Given the description of an element on the screen output the (x, y) to click on. 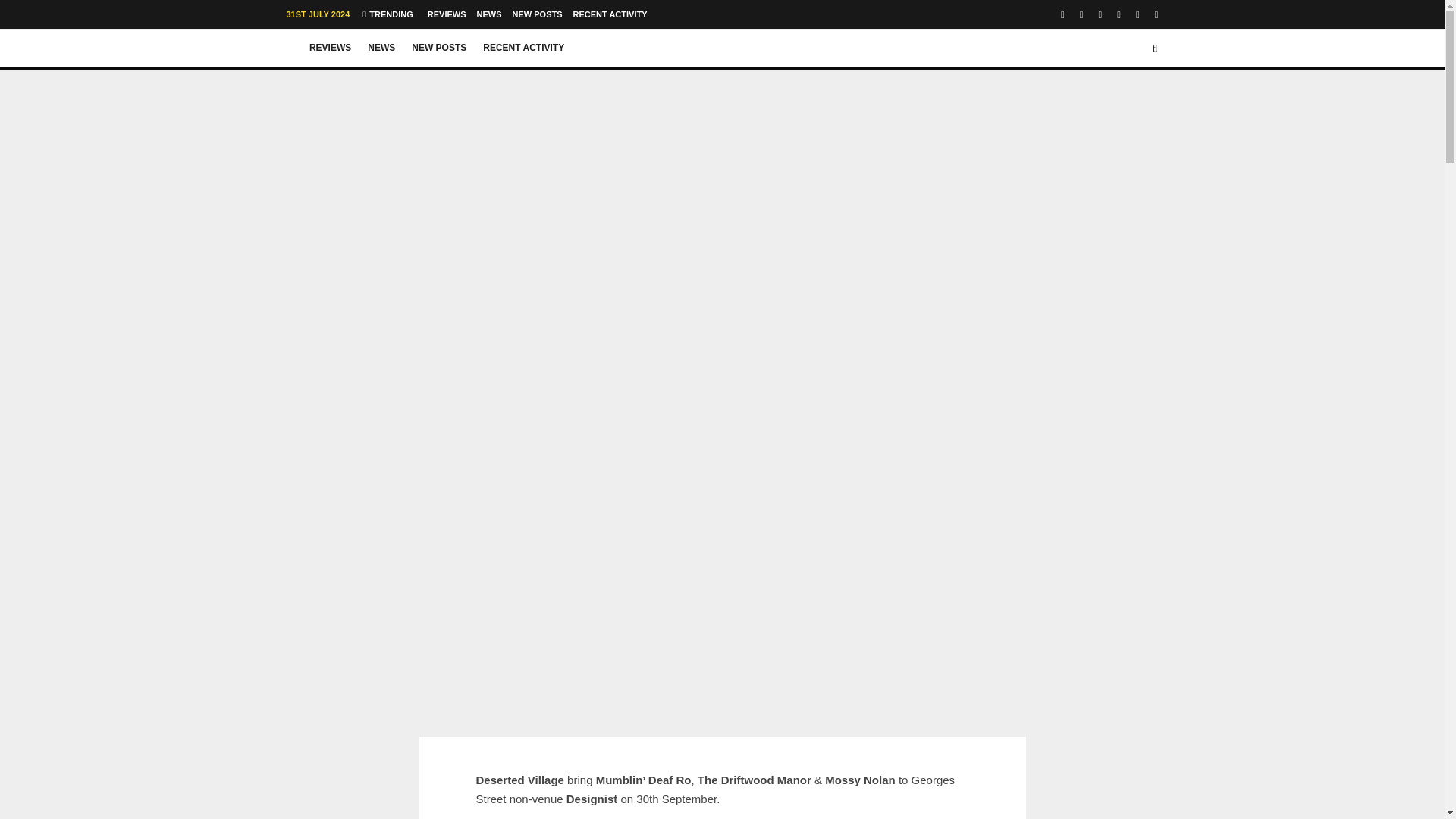
RECENT ACTIVITY (523, 48)
TRENDING (386, 14)
NEWS (381, 48)
RECENT ACTIVITY (609, 14)
NEWS (488, 14)
NEW POSTS (536, 14)
REVIEWS (330, 48)
REVIEWS (446, 14)
NEW POSTS (438, 48)
